Given the description of an element on the screen output the (x, y) to click on. 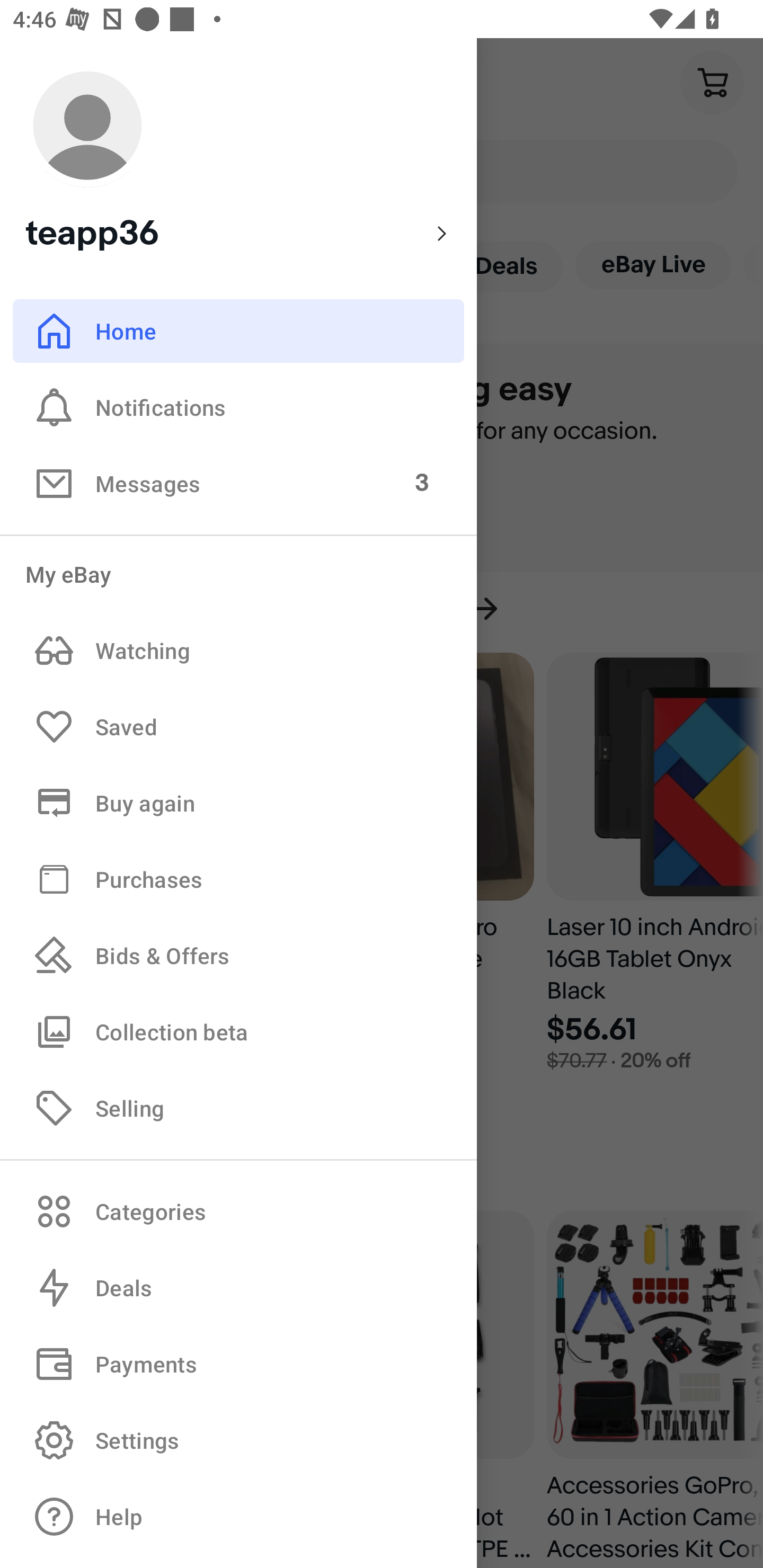
teapp36 (238, 158)
Home (238, 330)
Notifications (238, 406)
Messages 3 (238, 483)
Watching (238, 650)
Saved (238, 726)
Buy again (238, 802)
Purchases (238, 878)
Bids & Offers (238, 955)
Collection beta (238, 1031)
Selling (238, 1107)
Categories (238, 1210)
Deals (238, 1287)
Payments (238, 1363)
Settings (238, 1439)
Help (238, 1516)
